Given the description of an element on the screen output the (x, y) to click on. 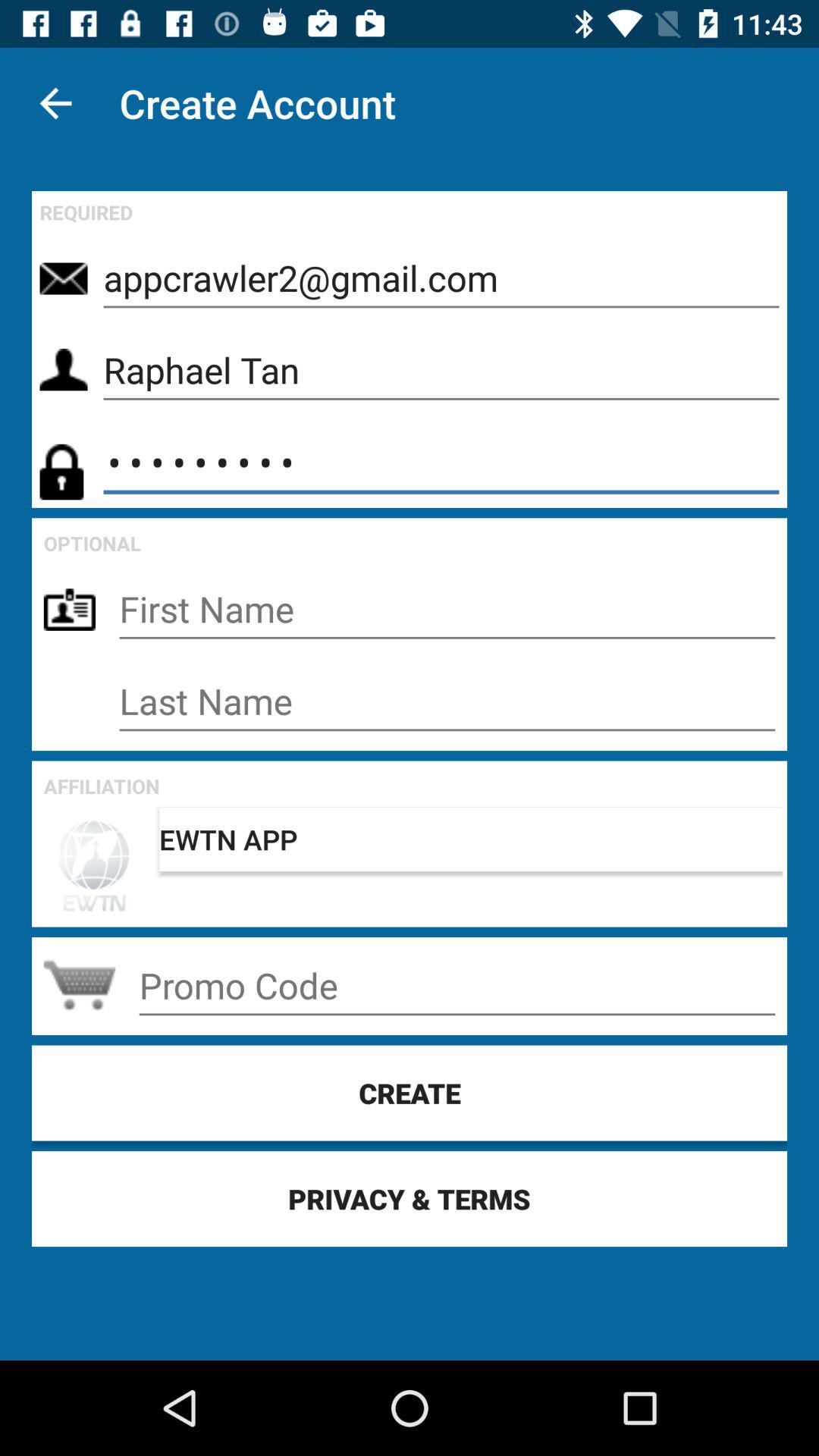
enter your last name (447, 701)
